Given the description of an element on the screen output the (x, y) to click on. 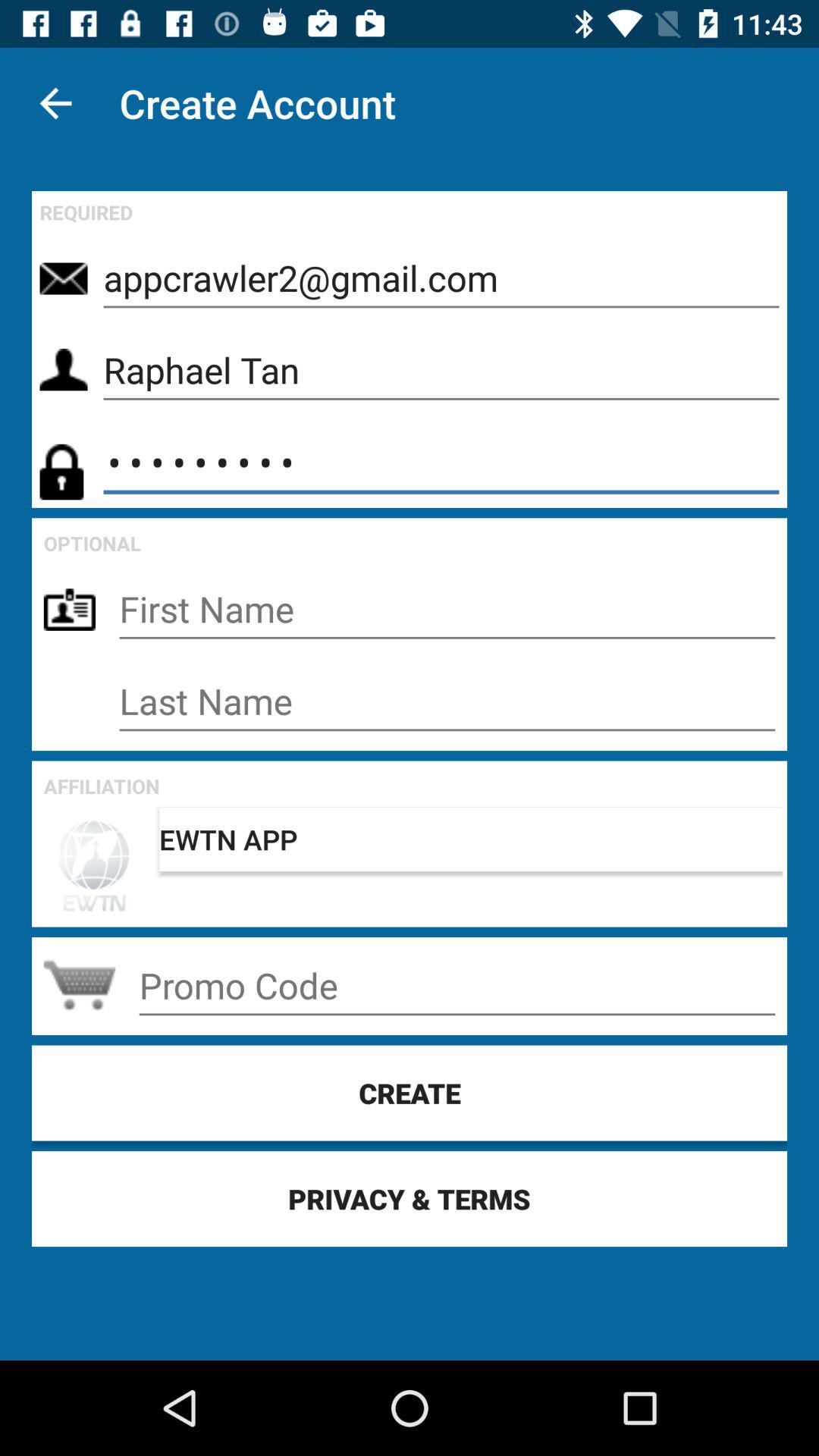
enter your last name (447, 701)
